Given the description of an element on the screen output the (x, y) to click on. 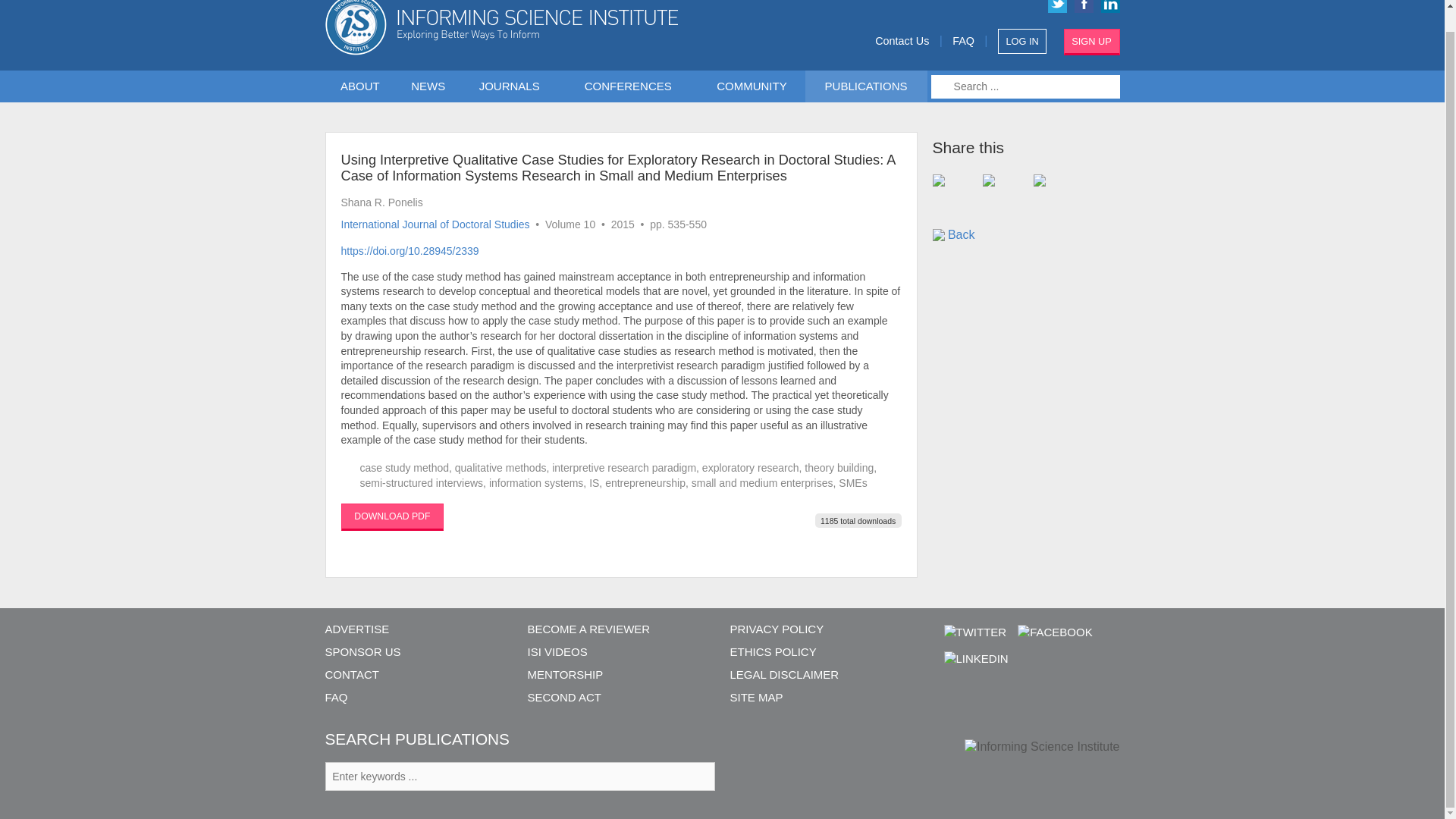
ABOUT (360, 86)
LOG IN (1021, 41)
SIGN UP (1091, 41)
JOURNALS   (512, 86)
CONFERENCES   (631, 86)
FAQ (963, 40)
PUBLICATIONS (865, 86)
COMMUNITY (751, 86)
Contact Us (901, 40)
ISI Home (552, 27)
